Given the description of an element on the screen output the (x, y) to click on. 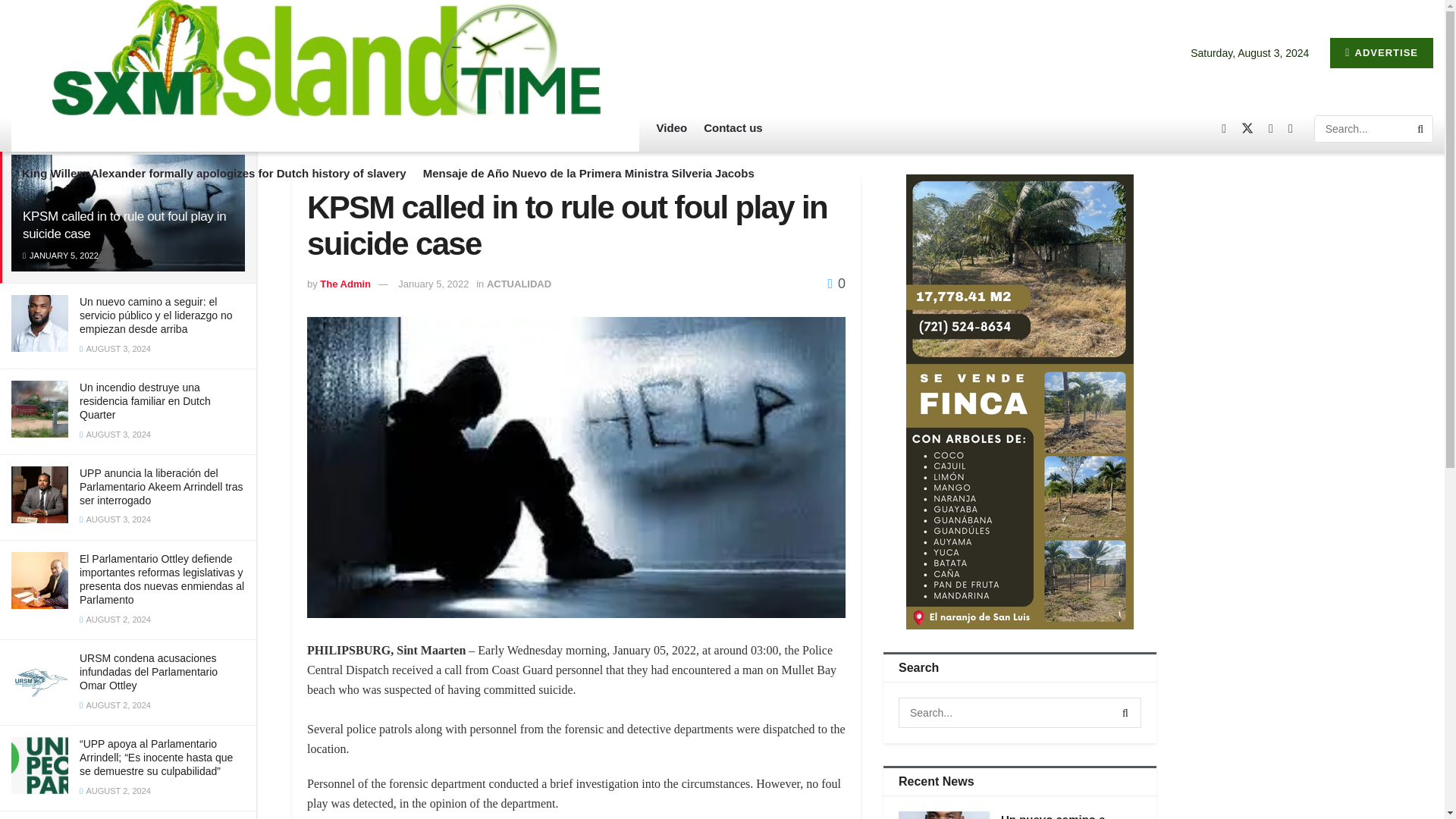
NOSOTROS EN SINT MAARTEN (505, 126)
Imagen den dia (359, 126)
ACTUALIDAD (106, 126)
ADVERTISE (1381, 52)
Gobierno (276, 126)
Contact us (732, 126)
KPSM called in to rule out foul play in suicide case (124, 224)
English News (198, 126)
